Given the description of an element on the screen output the (x, y) to click on. 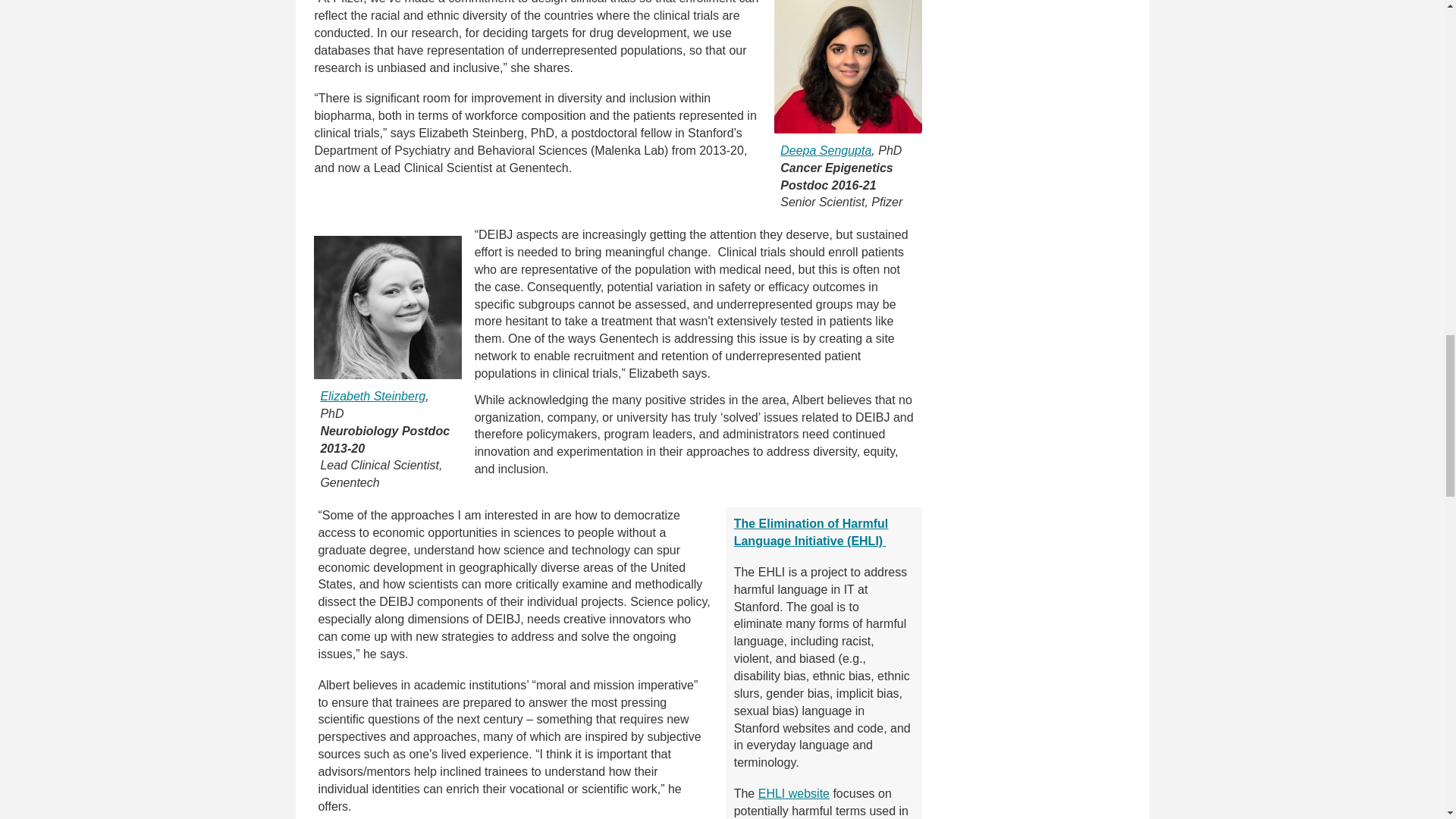
Deepa Sengupta  (847, 66)
Elizabeth Steinberg  (387, 307)
Deepa Sengupta on LinkedIn (825, 150)
